Given the description of an element on the screen output the (x, y) to click on. 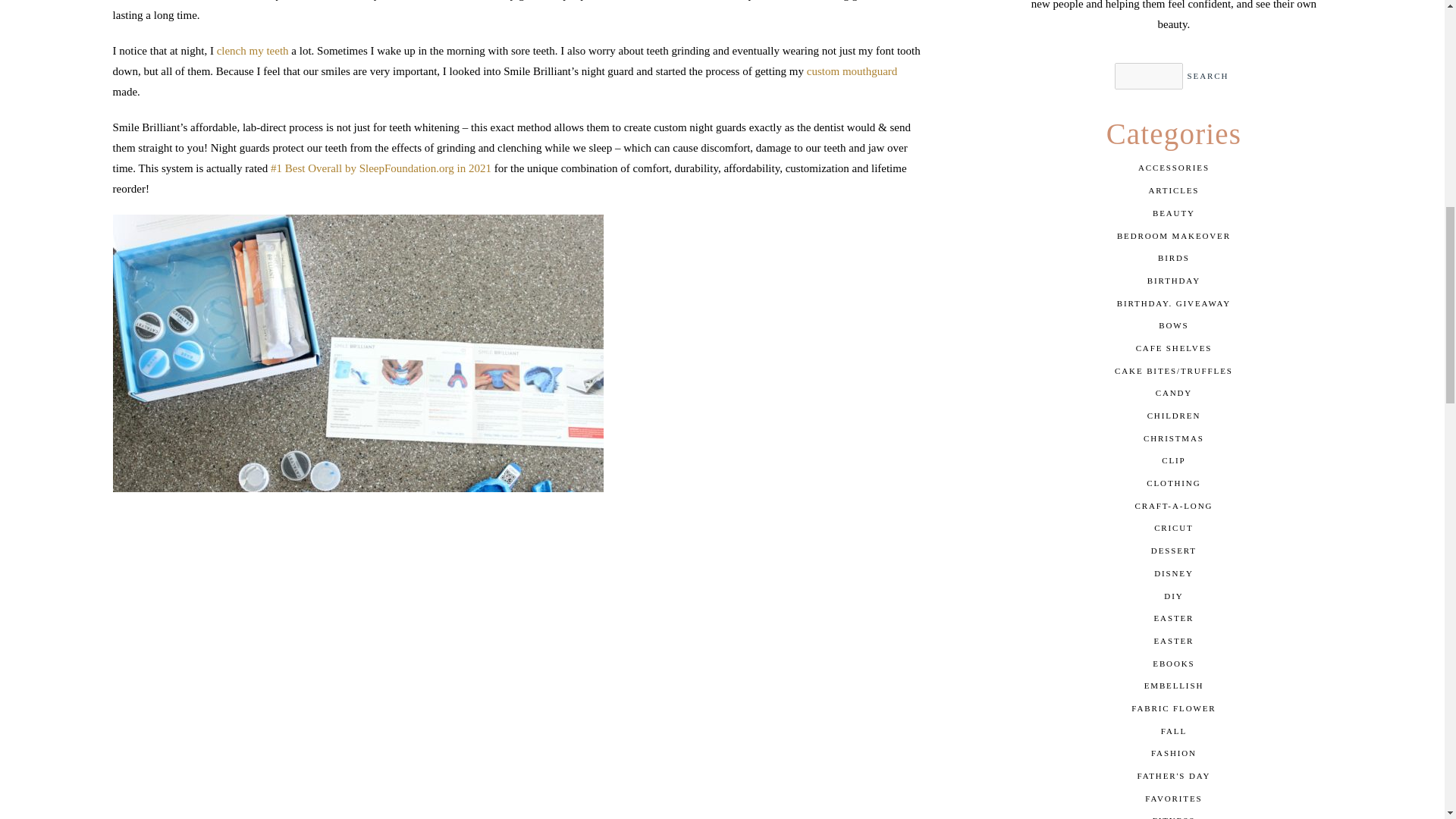
BIRDS (1173, 258)
CANDY (1173, 393)
BEAUTY (1173, 213)
Search (1208, 76)
CHILDREN (1173, 415)
CAFE SHELVES (1173, 348)
BEDROOM MAKEOVER (1173, 235)
Search (1208, 76)
ACCESSORIES (1173, 168)
BOWS (1173, 325)
